Given the description of an element on the screen output the (x, y) to click on. 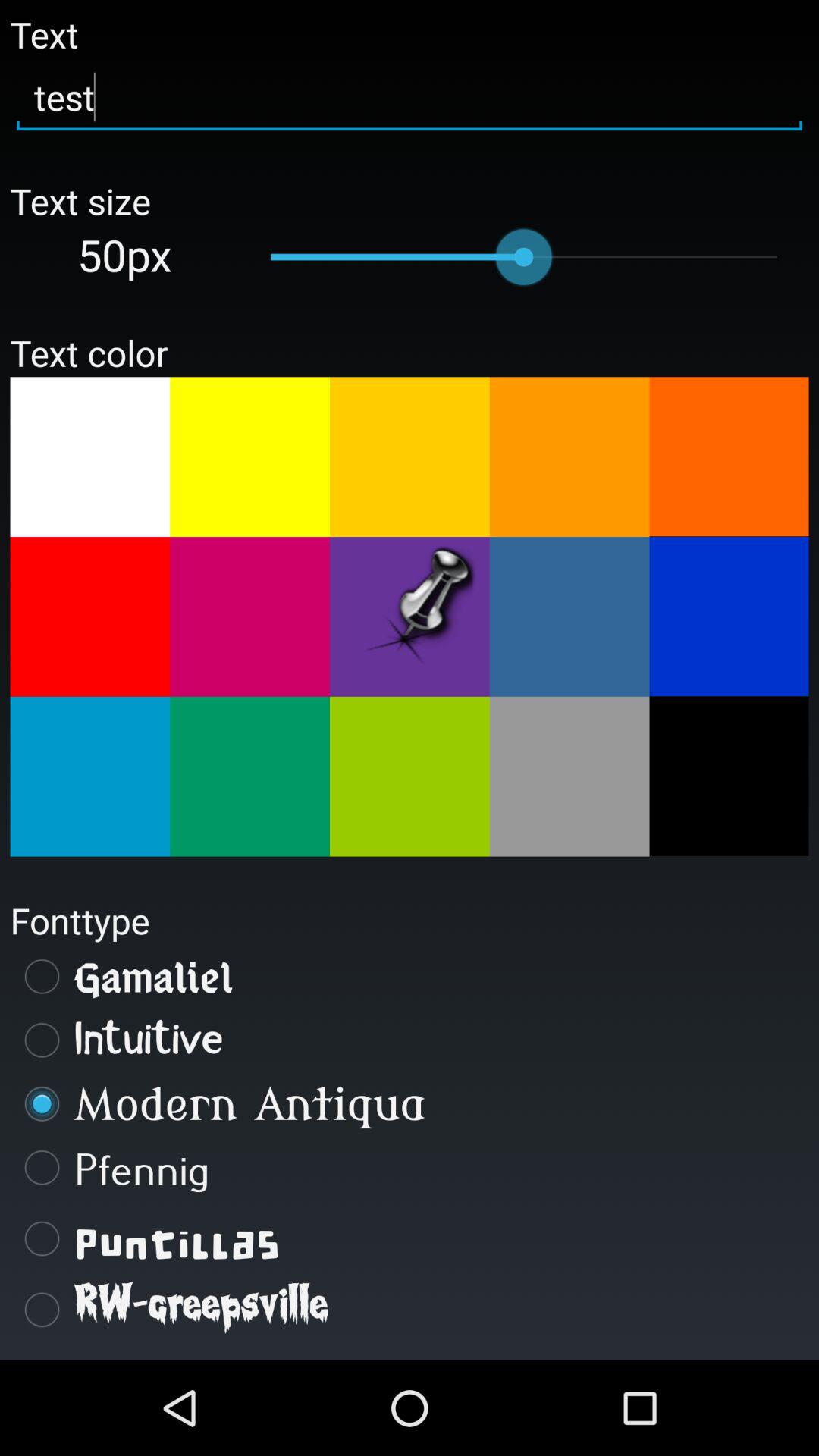
chage the color text in yellow (409, 456)
